Given the description of an element on the screen output the (x, y) to click on. 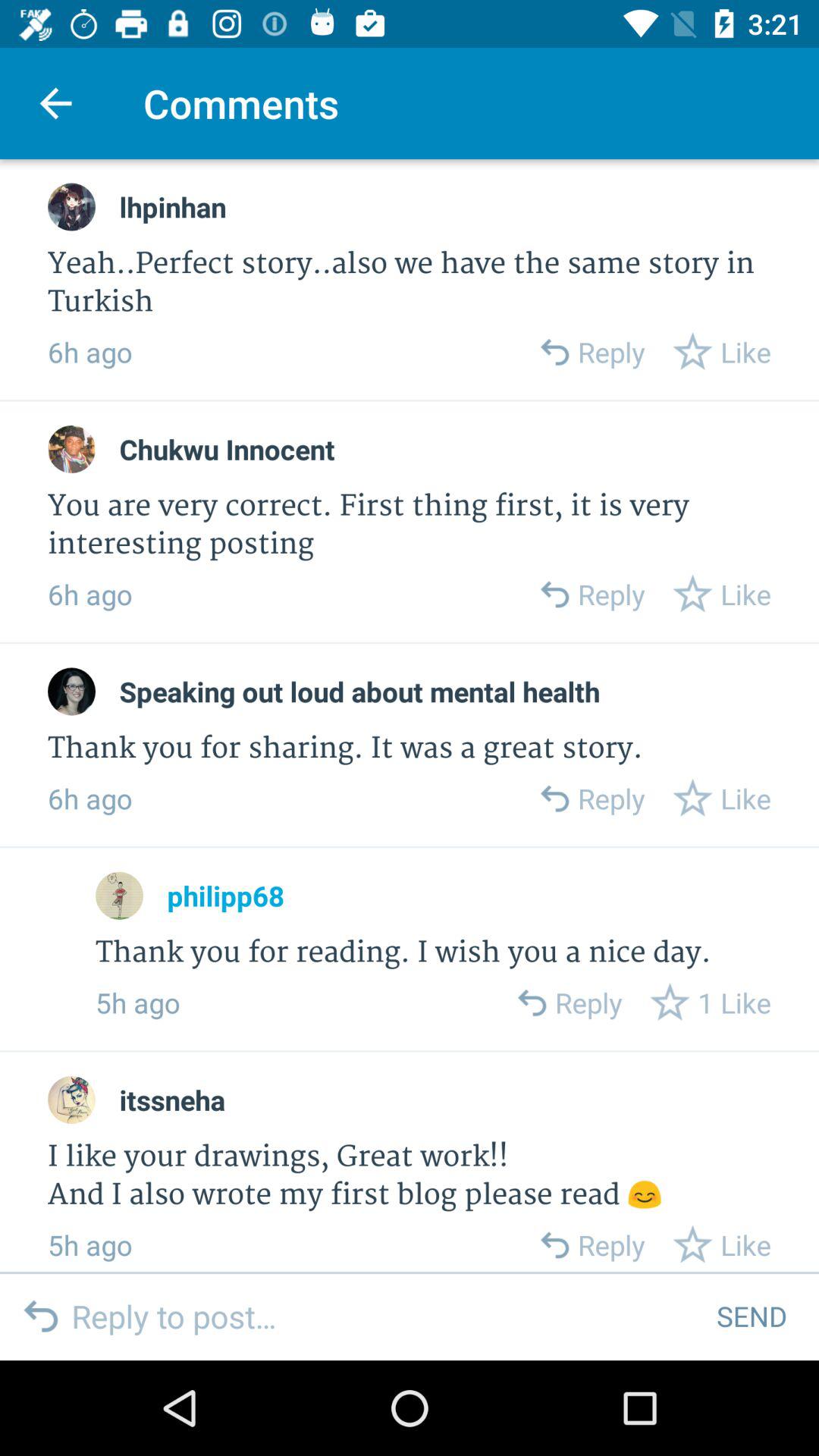
go back (553, 1244)
